Given the description of an element on the screen output the (x, y) to click on. 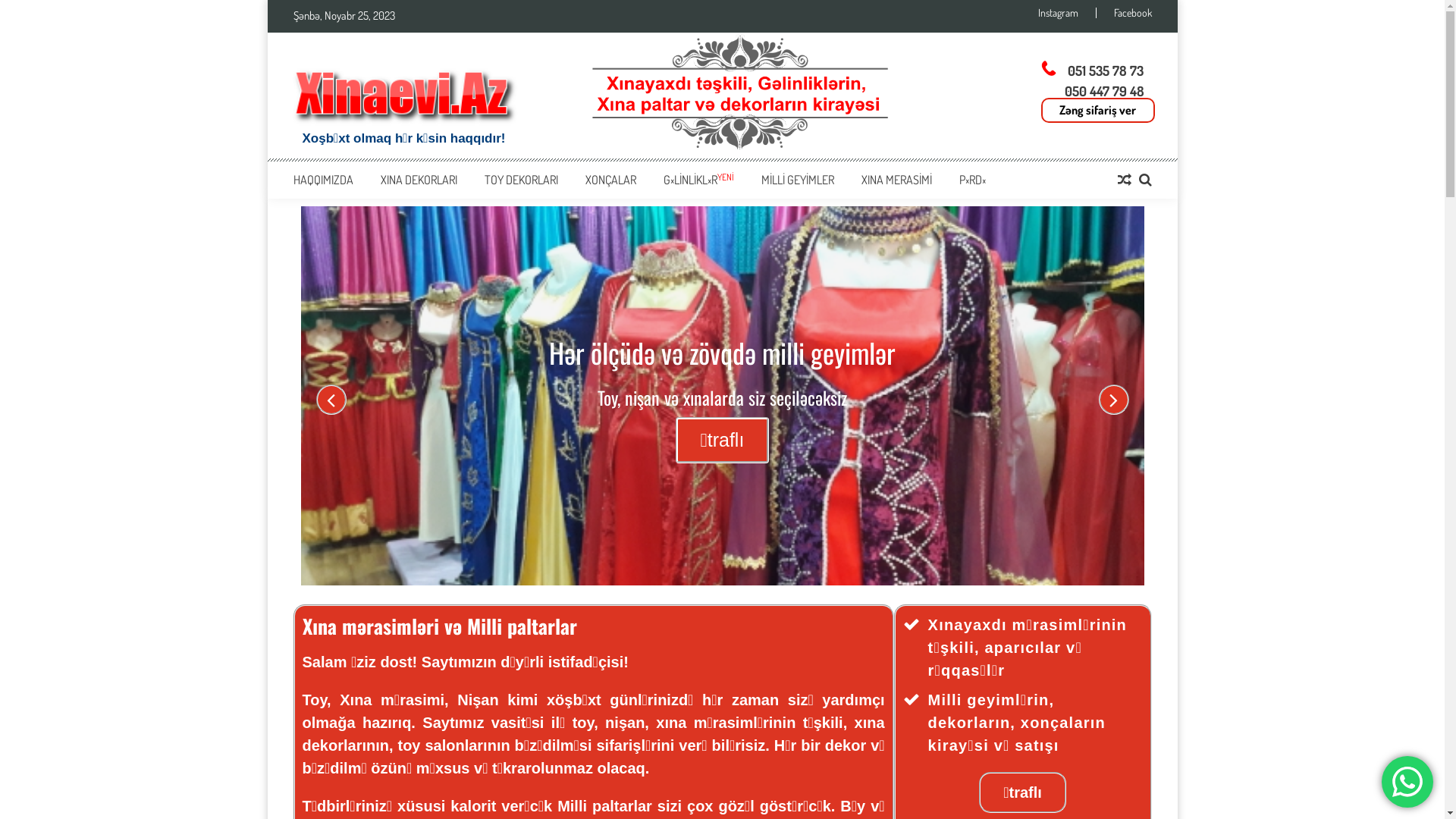
MILLI GEYIMLER Element type: text (797, 179)
XINA DEKORLARI Element type: text (418, 179)
TOY DEKORLARI Element type: text (520, 179)
XINA MERASIMI Element type: text (896, 179)
View a random post Element type: hover (1124, 179)
Instagram Element type: text (1066, 12)
HAQQIMIZDA Element type: text (322, 179)
Xina Evi Element type: hover (403, 92)
Facebook Element type: text (1123, 12)
